Given the description of an element on the screen output the (x, y) to click on. 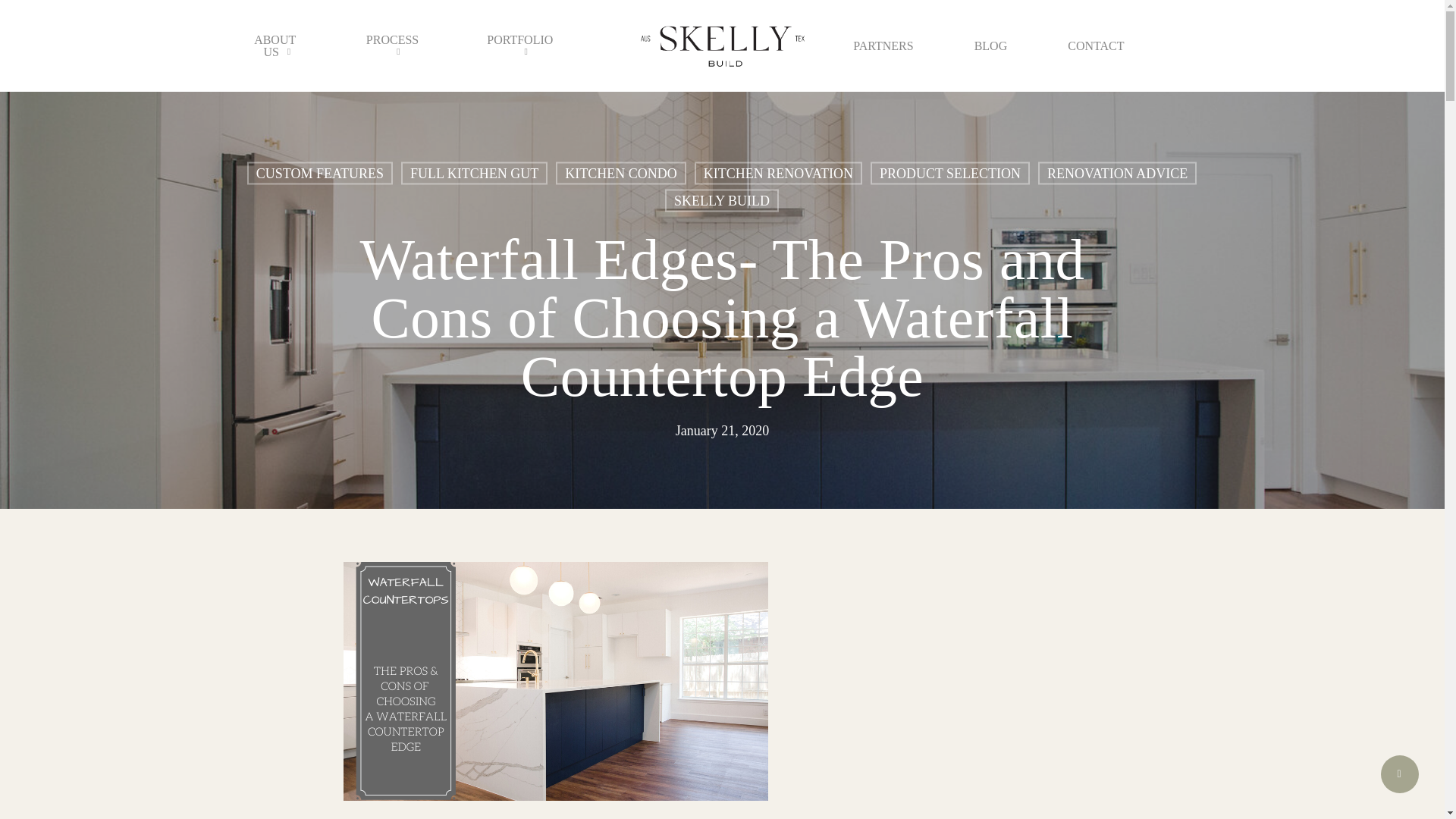
SKELLY BUILD (721, 201)
CONTACT (1095, 45)
BLOG (990, 45)
PRODUCT SELECTION (949, 175)
ABOUT US (277, 45)
CUSTOM FEATURES (320, 177)
KITCHEN CONDO (620, 176)
FULL KITCHEN GUT (474, 176)
PROCESS (396, 45)
PARTNERS (882, 45)
RENOVATION ADVICE (1117, 174)
PORTFOLIO (523, 45)
KITCHEN RENOVATION (777, 175)
